Given the description of an element on the screen output the (x, y) to click on. 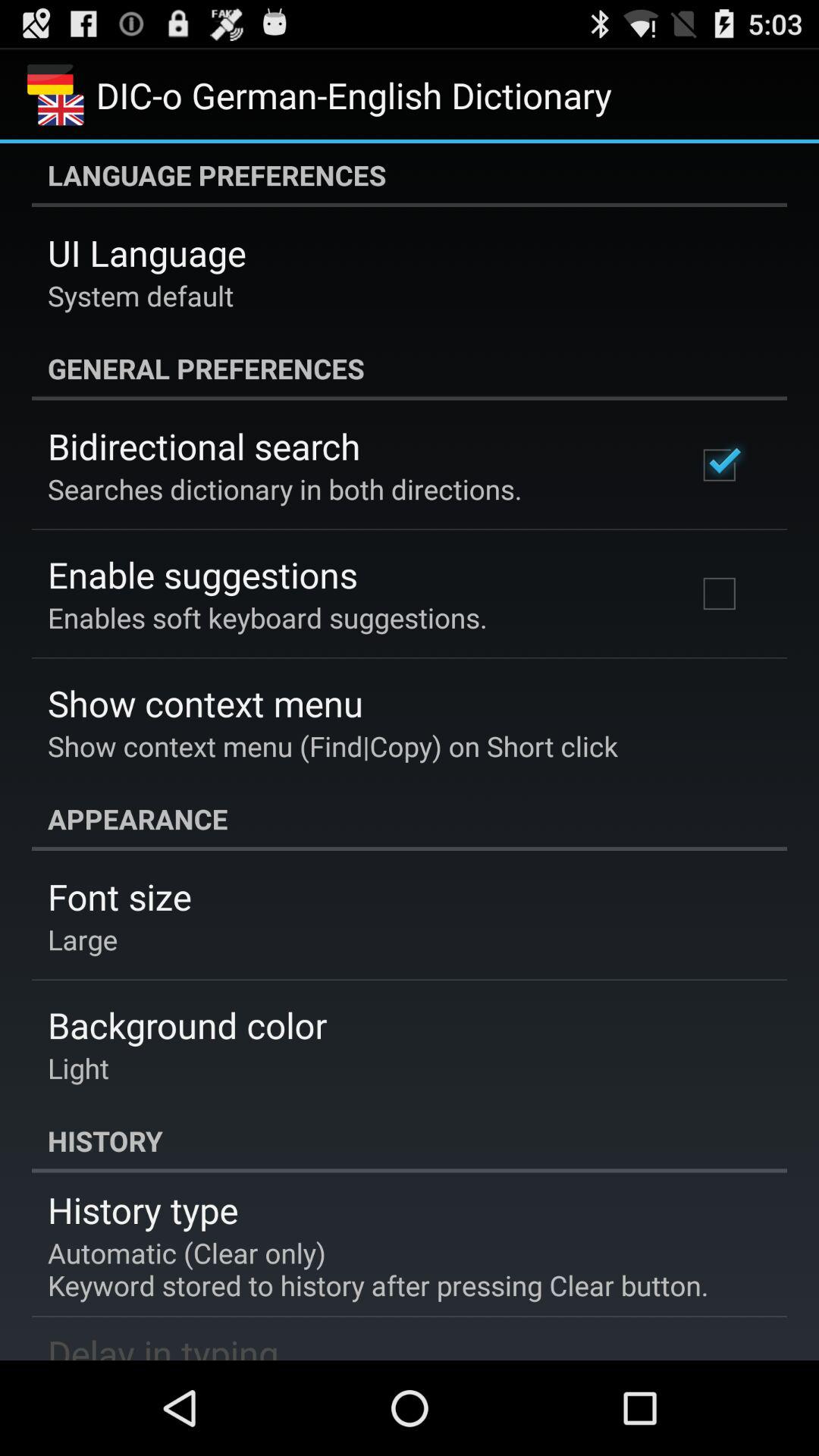
open item above the light app (187, 1025)
